Given the description of an element on the screen output the (x, y) to click on. 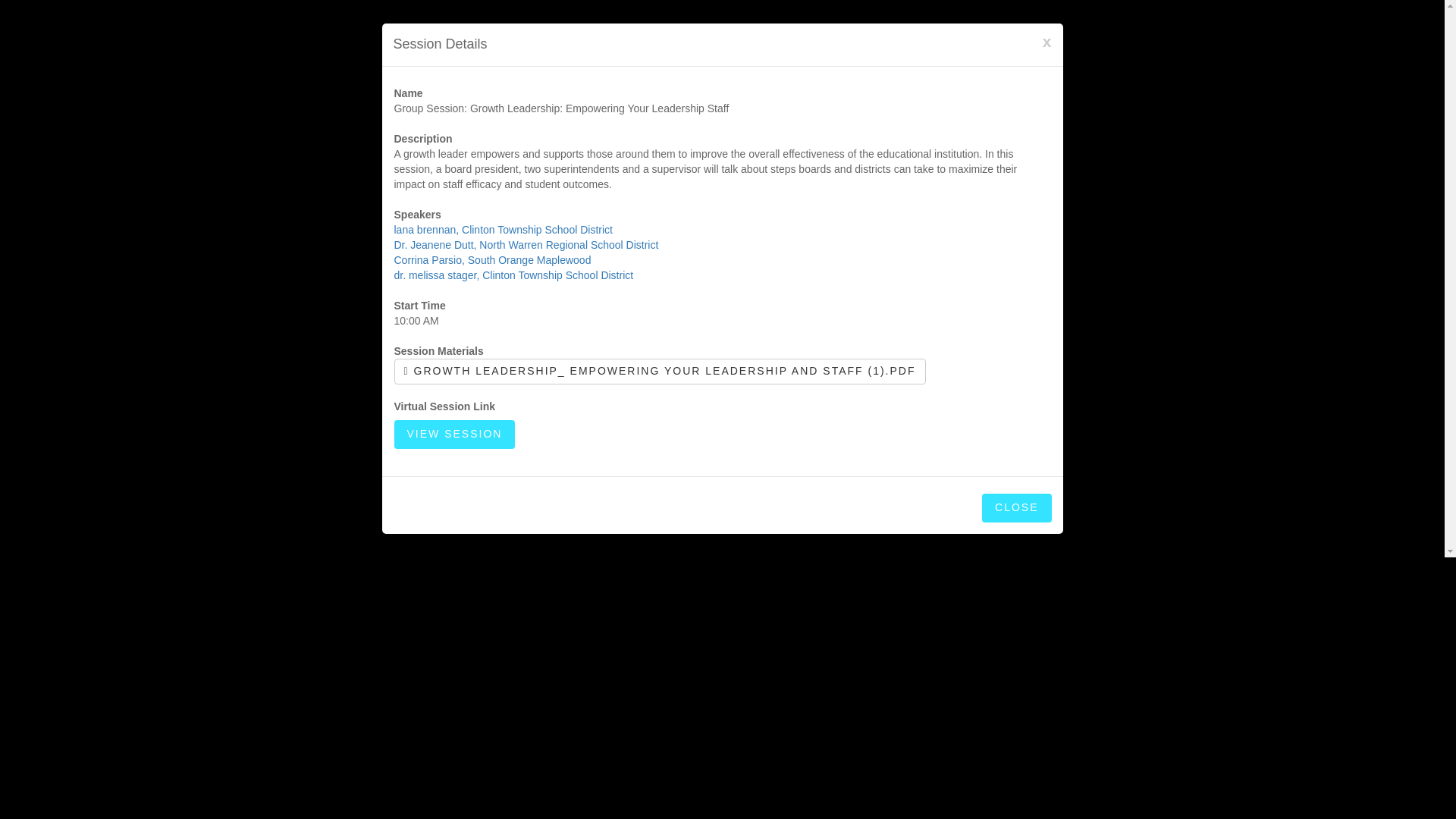
Speaker Details (513, 275)
Dr. Jeanene Dutt, North Warren Regional School District (526, 244)
Speaker Details (503, 229)
Corrina Parsio, South Orange Maplewood (492, 259)
CLOSE (1016, 507)
Speaker Details (526, 244)
VIEW SESSION (454, 434)
lana brennan, Clinton Township School District (503, 229)
Speaker Details (492, 259)
dr. melissa stager, Clinton Township School District (513, 275)
